Given the description of an element on the screen output the (x, y) to click on. 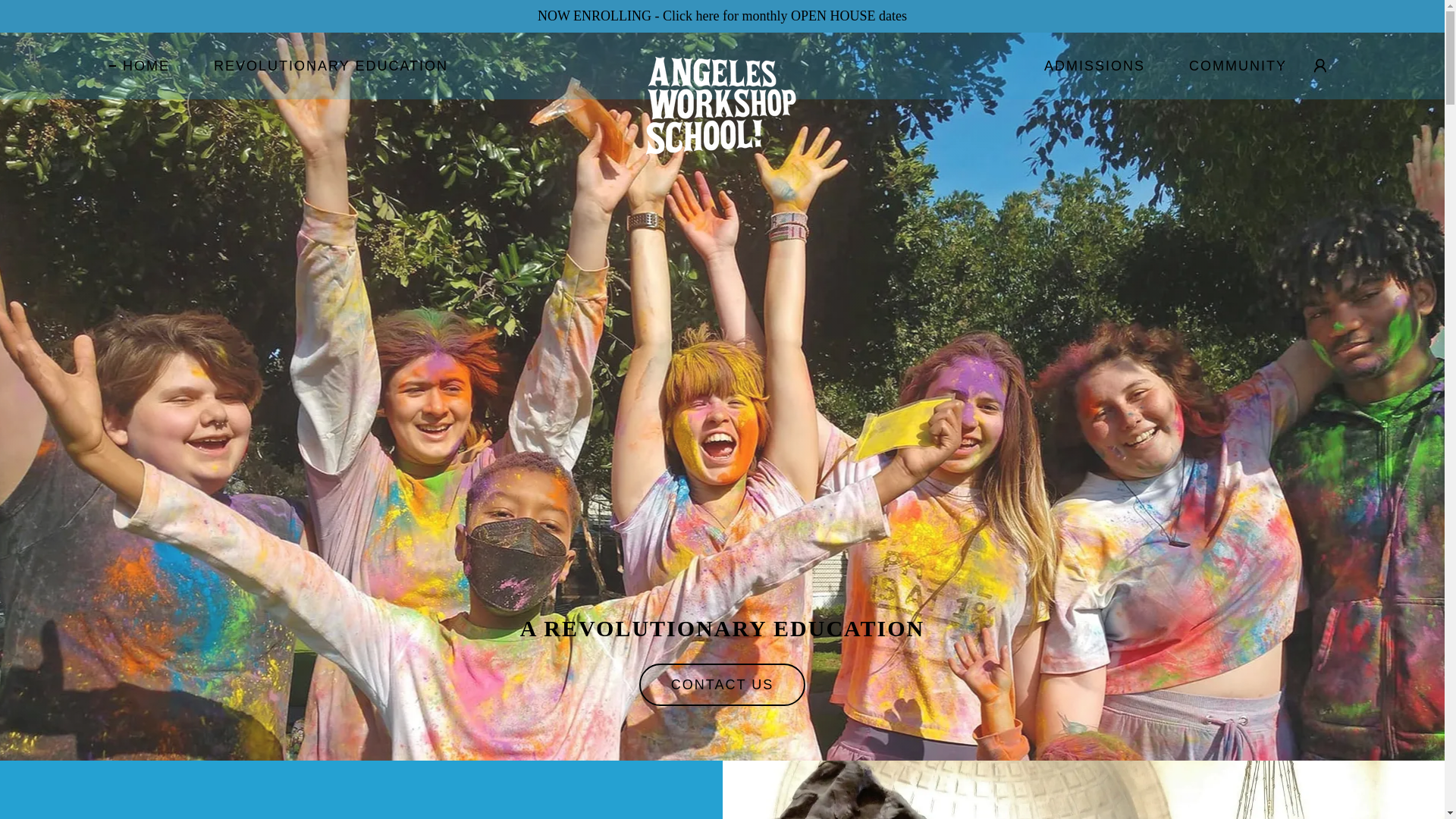
ADMISSIONS (1088, 65)
HOME (139, 65)
COMMUNITY (1230, 65)
CONTACT US (722, 684)
Angeles Workshop School (722, 62)
REVOLUTIONARY EDUCATION (323, 65)
